Given the description of an element on the screen output the (x, y) to click on. 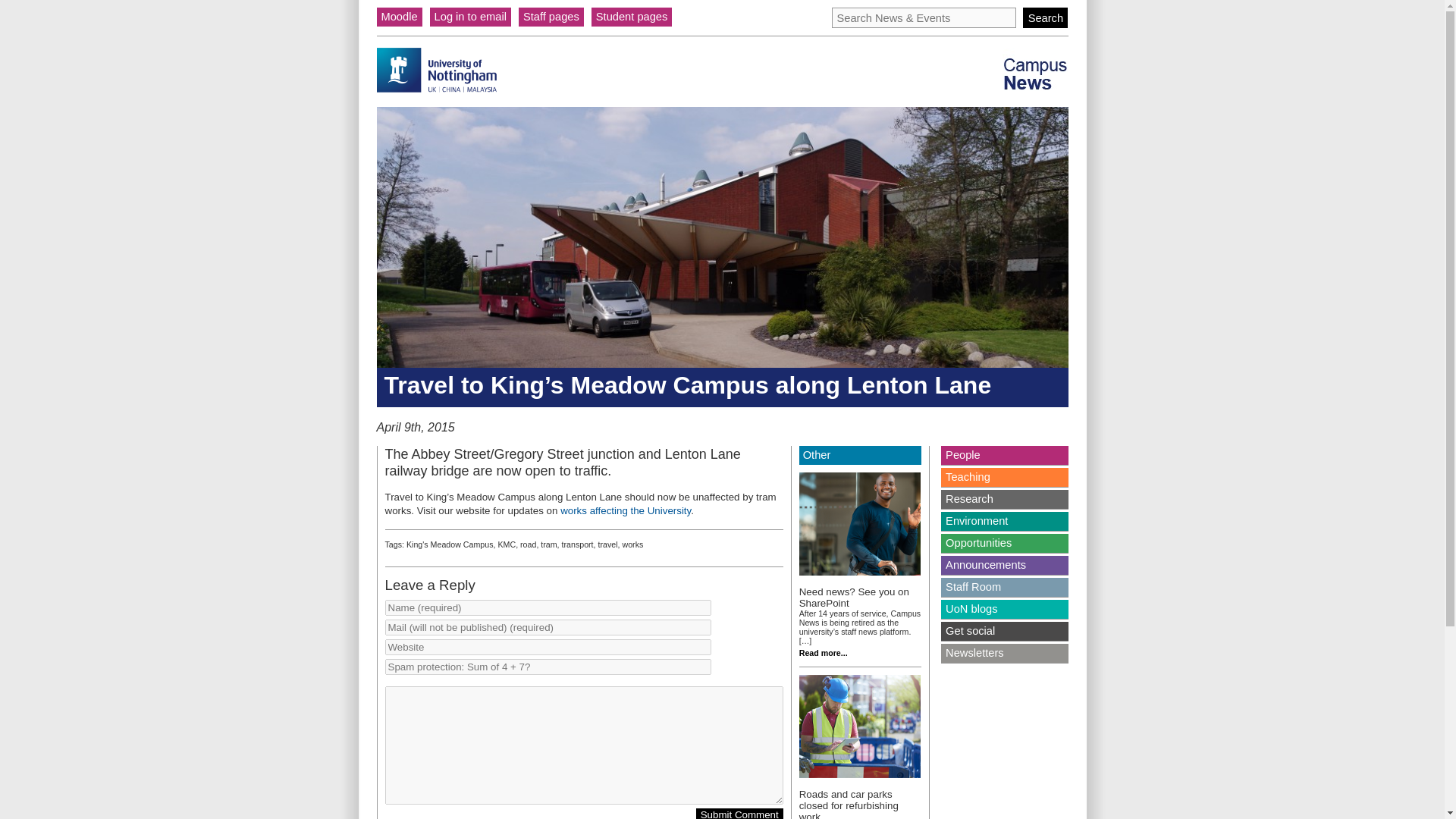
transport (578, 543)
Newsletters (1003, 652)
Moodle (398, 16)
Get social (1003, 630)
Student pages (631, 16)
Works affecting the University (625, 510)
works (632, 543)
Opportunities (1003, 542)
Roads and car parks closed for refurbishing work (848, 803)
Staff pages (550, 16)
Submit Comment (739, 813)
KMC (506, 543)
Research (1003, 498)
Submit Comment (739, 813)
road (527, 543)
